Given the description of an element on the screen output the (x, y) to click on. 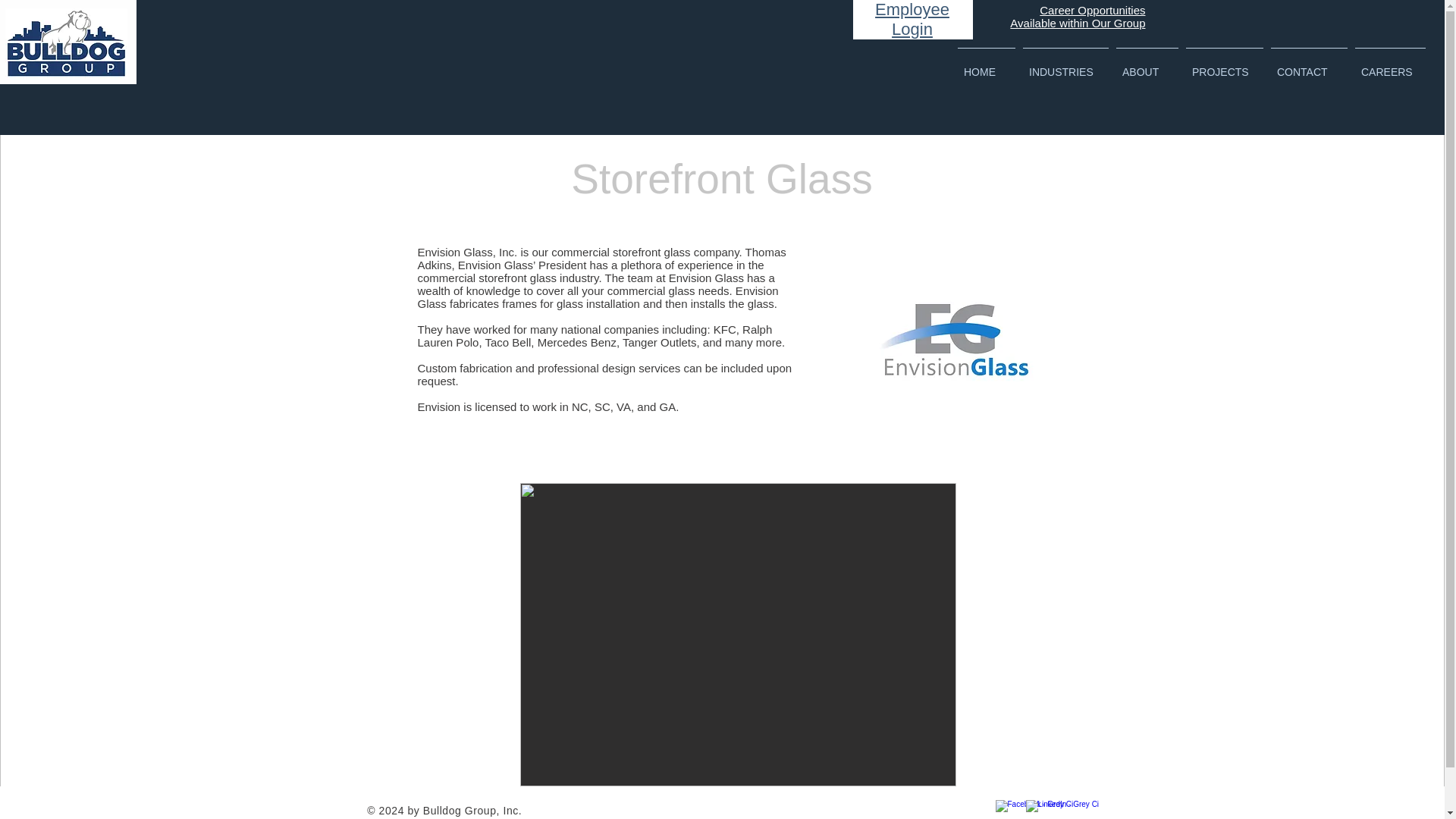
ABOUT (1147, 64)
HOME (1077, 16)
CAREERS (986, 64)
Employee Login (1390, 64)
CONTACT (912, 19)
INDUSTRIES (1308, 64)
PROJECTS (1065, 64)
